Given the description of an element on the screen output the (x, y) to click on. 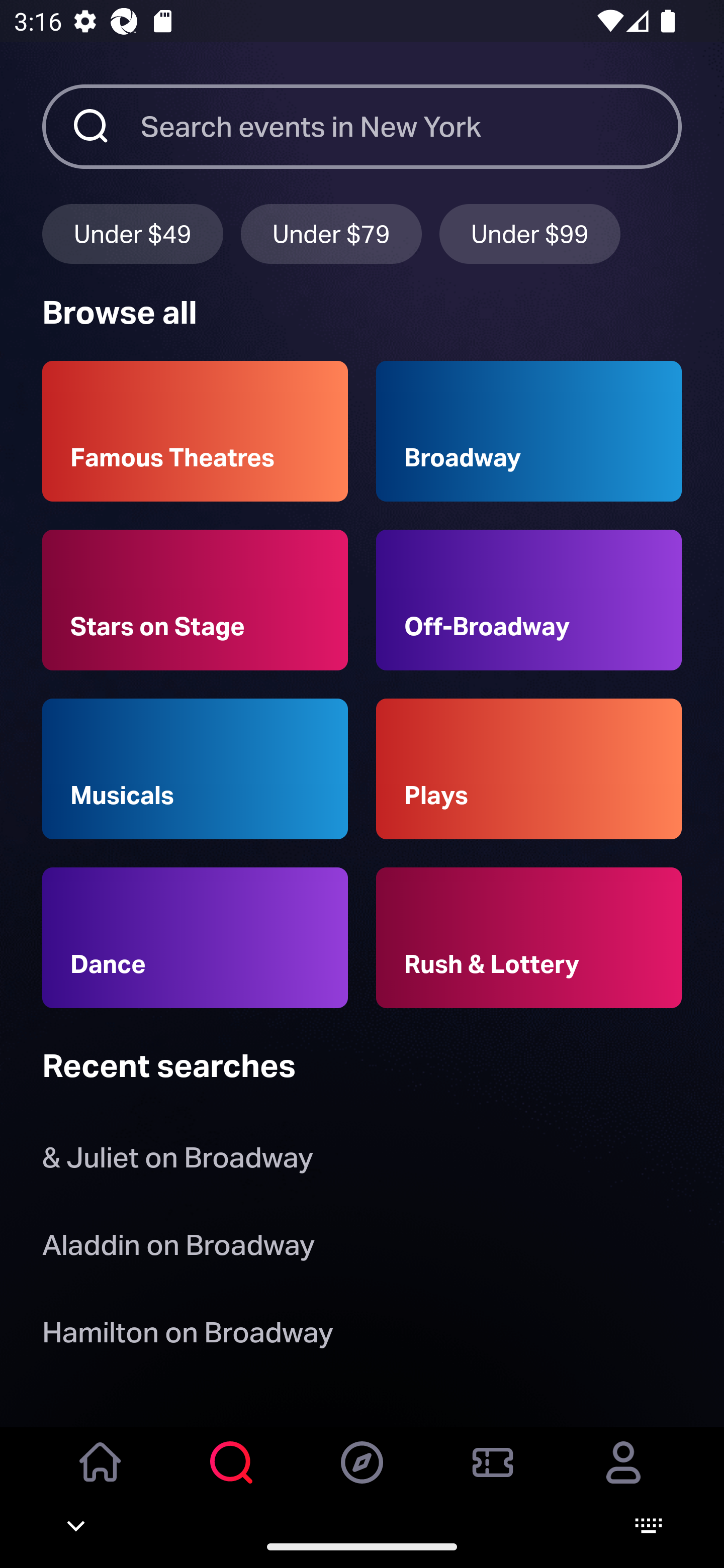
Search events in New York (411, 126)
Under $49 (131, 233)
Under $79 (331, 233)
Under $99 (529, 233)
Famous Theatres (194, 430)
Broadway (528, 430)
Stars on Stage (194, 600)
Off-Broadway (528, 600)
Musicals (194, 768)
Plays (528, 768)
Dance (194, 937)
Rush & Lottery (528, 937)
& Juliet on Broadway  (180, 1161)
Aladdin on Broadway (177, 1248)
Hamilton on Broadway (187, 1335)
Home (100, 1475)
Discover (361, 1475)
Orders (492, 1475)
Account (623, 1475)
